Given the description of an element on the screen output the (x, y) to click on. 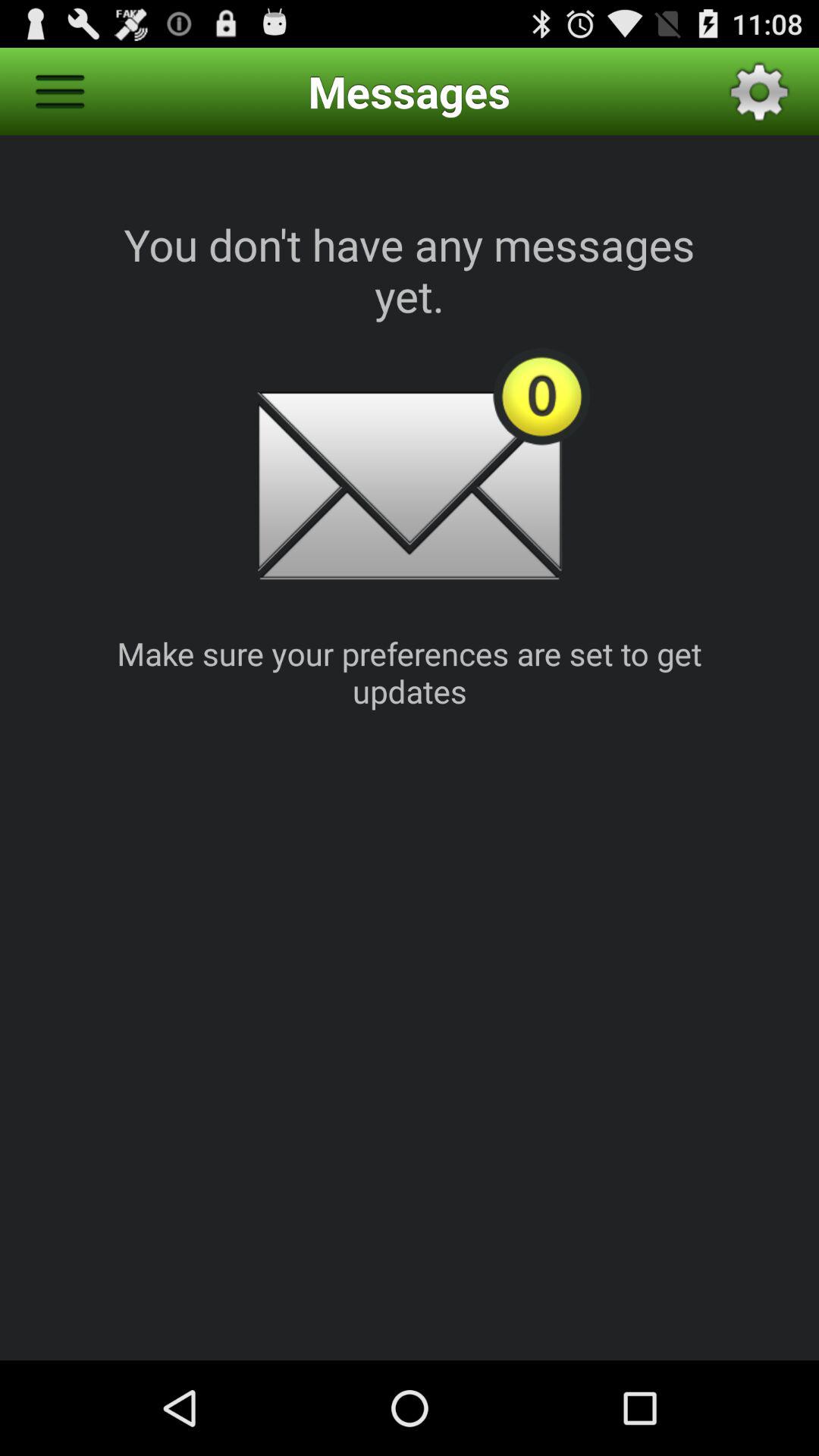
turn on app above you don t app (59, 91)
